Given the description of an element on the screen output the (x, y) to click on. 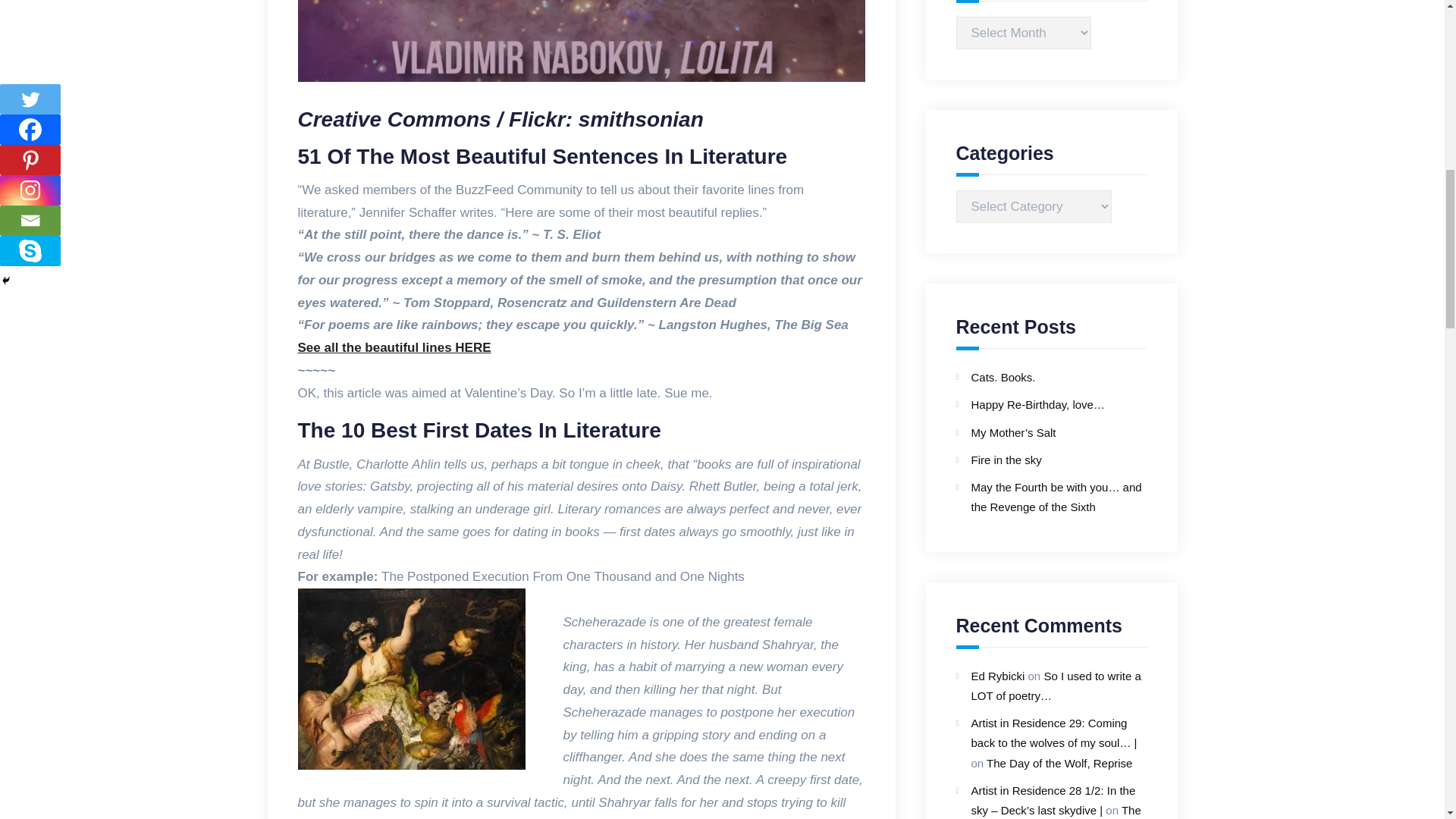
See all the beautiful lines HERE (393, 347)
